Given the description of an element on the screen output the (x, y) to click on. 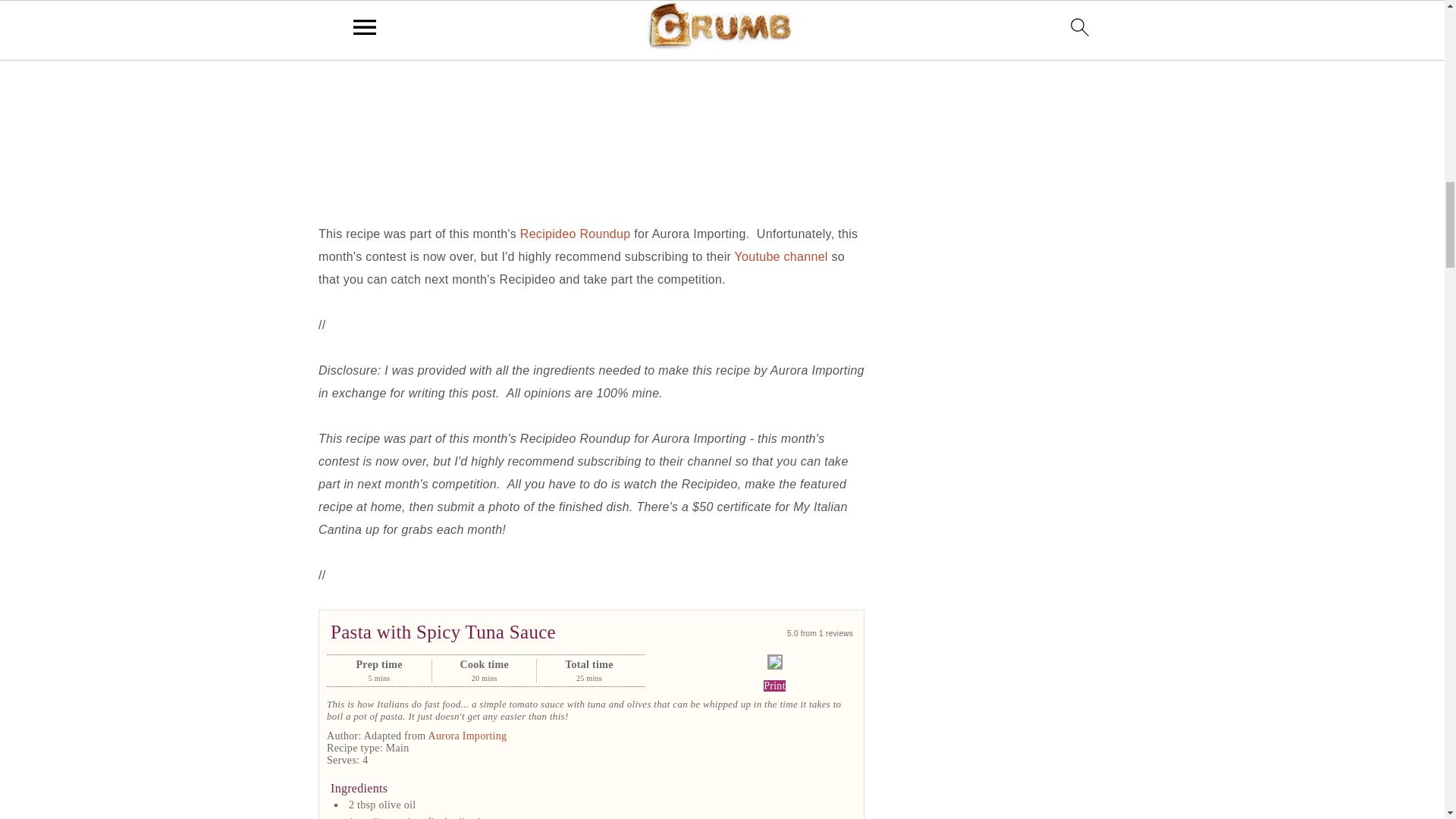
Recipideo Roundup (574, 233)
Youtube channel (781, 256)
Print (774, 685)
Aurora Importing (467, 736)
Spicy Tuna Pasta by Polkaroo, on Flickr (591, 99)
